Given the description of an element on the screen output the (x, y) to click on. 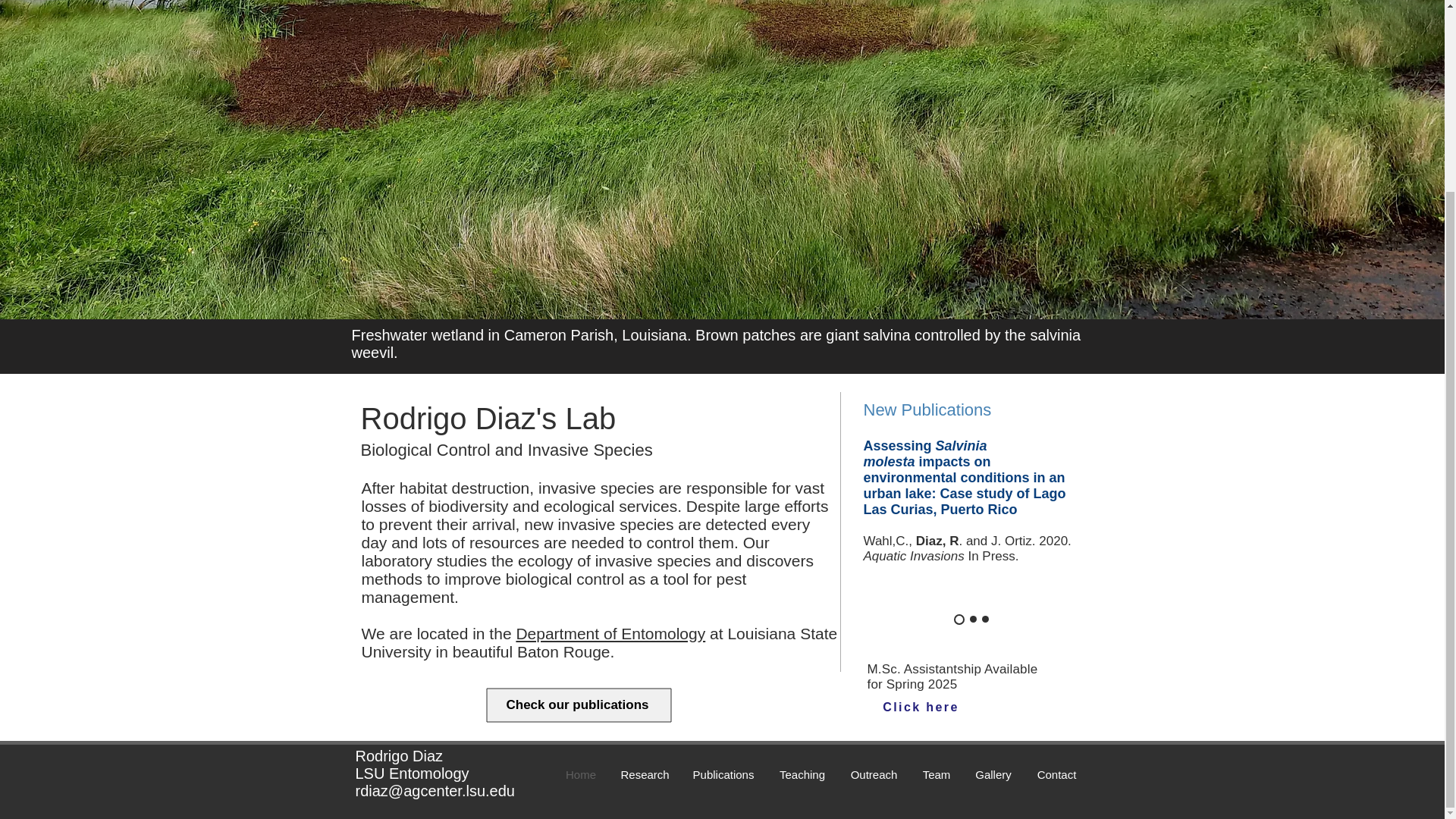
Click here (921, 707)
Research (644, 774)
Team (936, 774)
Gallery (993, 774)
Department of Entomology (609, 633)
Rodrigo Diaz's Lab (488, 418)
Contact (1056, 774)
Home (579, 774)
Teaching (802, 774)
Outreach (873, 774)
Check our publications (577, 704)
Publications (723, 774)
